Given the description of an element on the screen output the (x, y) to click on. 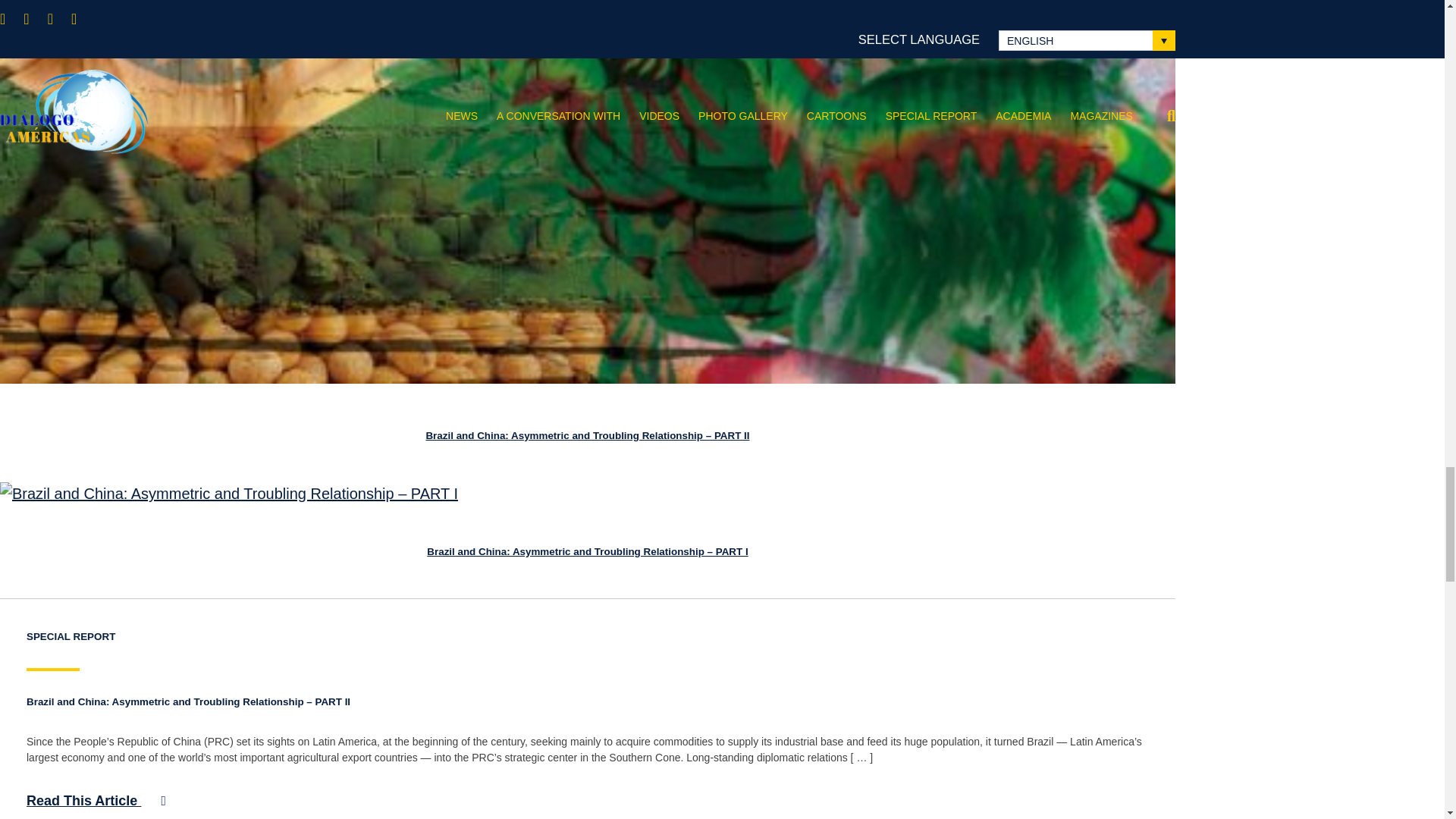
Read This Article (95, 800)
